Given the description of an element on the screen output the (x, y) to click on. 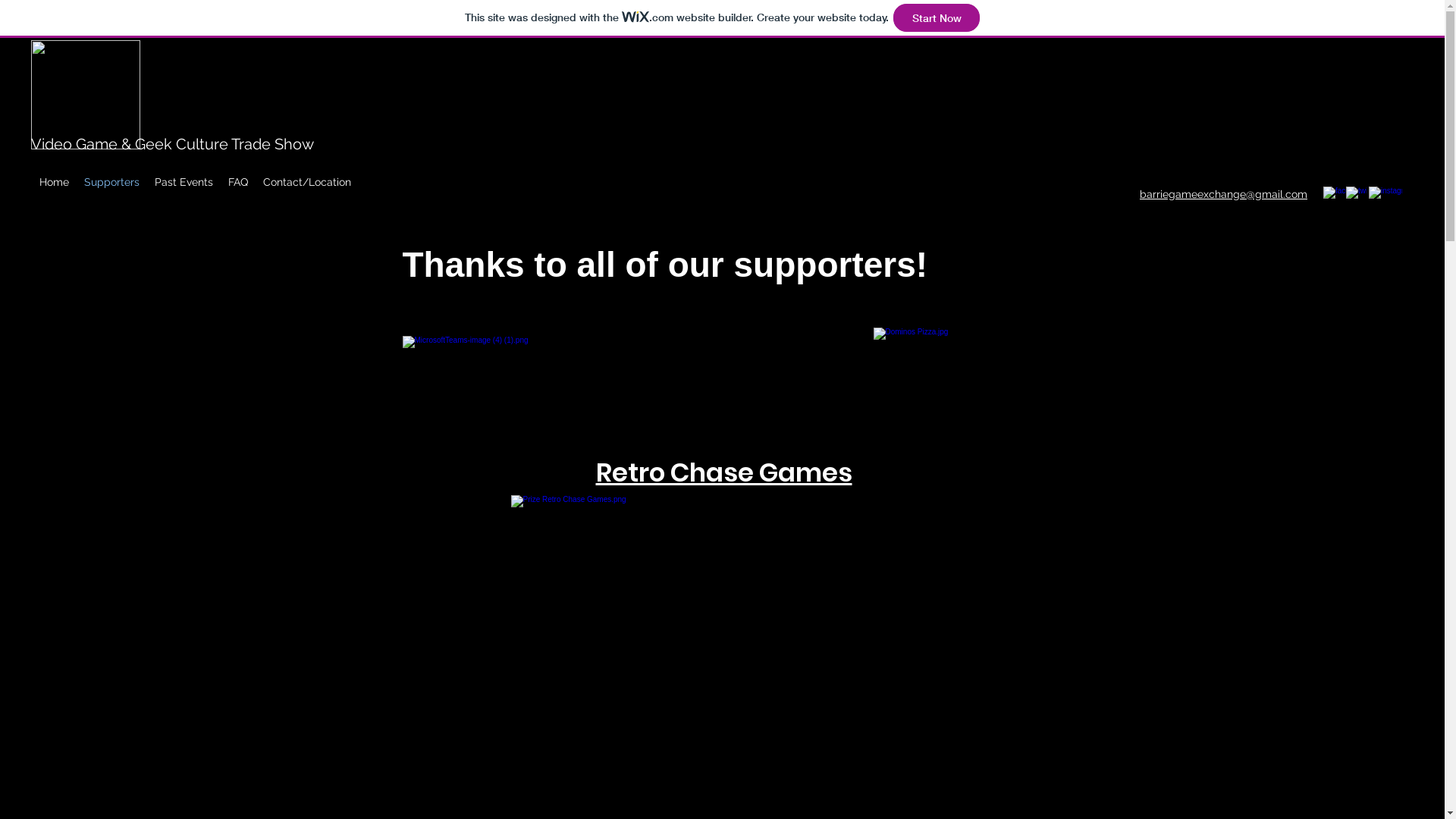
Contact/Location Element type: text (306, 180)
Supporters Element type: text (111, 180)
Retro Chase Games Element type: text (724, 469)
Past Events Element type: text (183, 180)
Home Element type: text (53, 180)
barriegameexchange@gmail.com Element type: text (1223, 194)
FAQ Element type: text (237, 180)
